Given the description of an element on the screen output the (x, y) to click on. 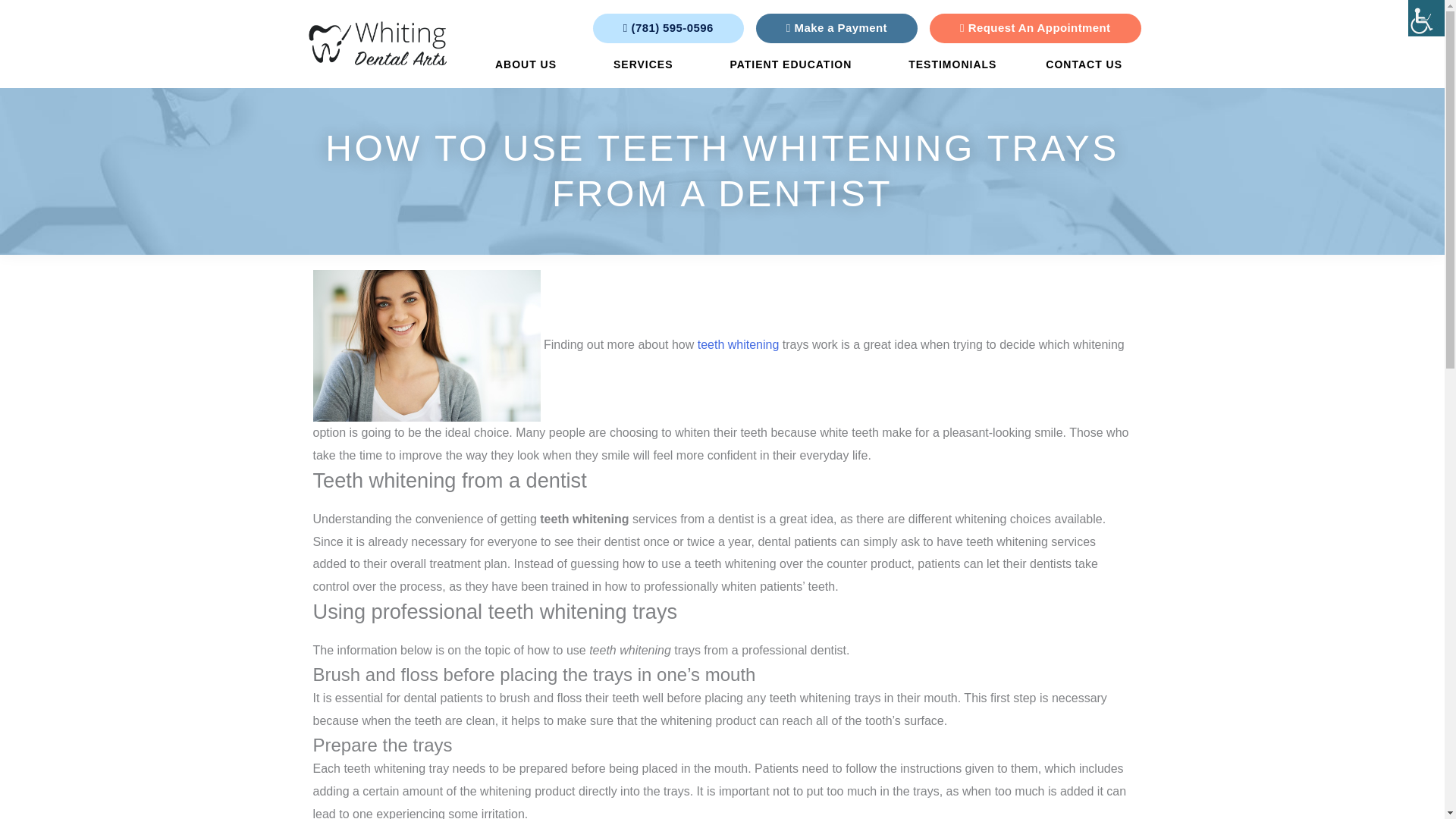
Services Navigation (646, 64)
Visit our About Our Practice page (529, 64)
ABOUT US (529, 64)
PATIENT EDUCATION (793, 64)
Request An Appointment (1035, 28)
SERVICES (646, 64)
Make a Payment (836, 28)
